Given the description of an element on the screen output the (x, y) to click on. 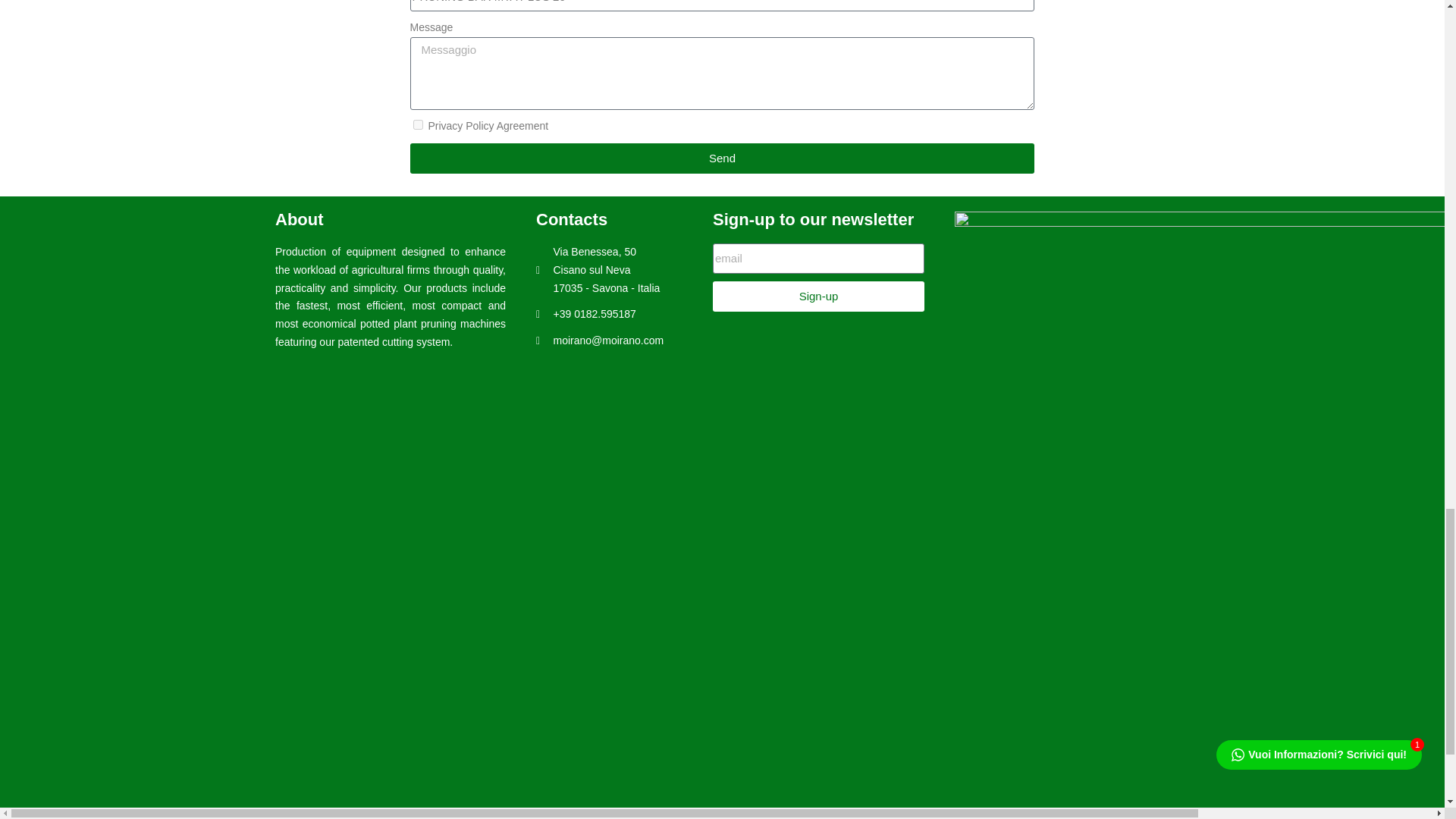
Privacy Policy Agreement (417, 124)
Sign-up (818, 296)
PRUNING BAR MTA PLUS 20 (721, 5)
Send (721, 158)
